Given the description of an element on the screen output the (x, y) to click on. 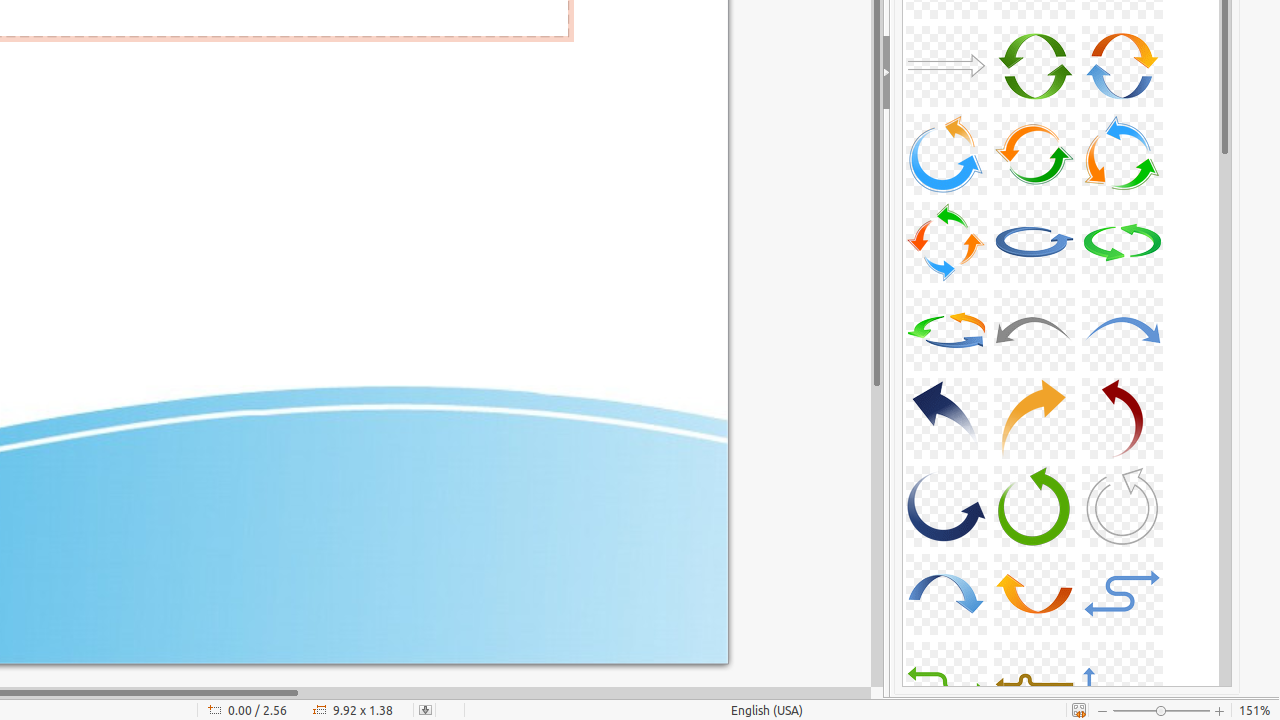
A19-CircleArrow Element type: list-item (946, 242)
A13-Arrow-Gray-Right Element type: list-item (946, 65)
A29-CurvedArrow-Green Element type: list-item (1034, 506)
A24-CurvedArrow-LightBlue-Right Element type: list-item (1122, 330)
A17-CircleArrow Element type: list-item (1034, 154)
